Given the description of an element on the screen output the (x, y) to click on. 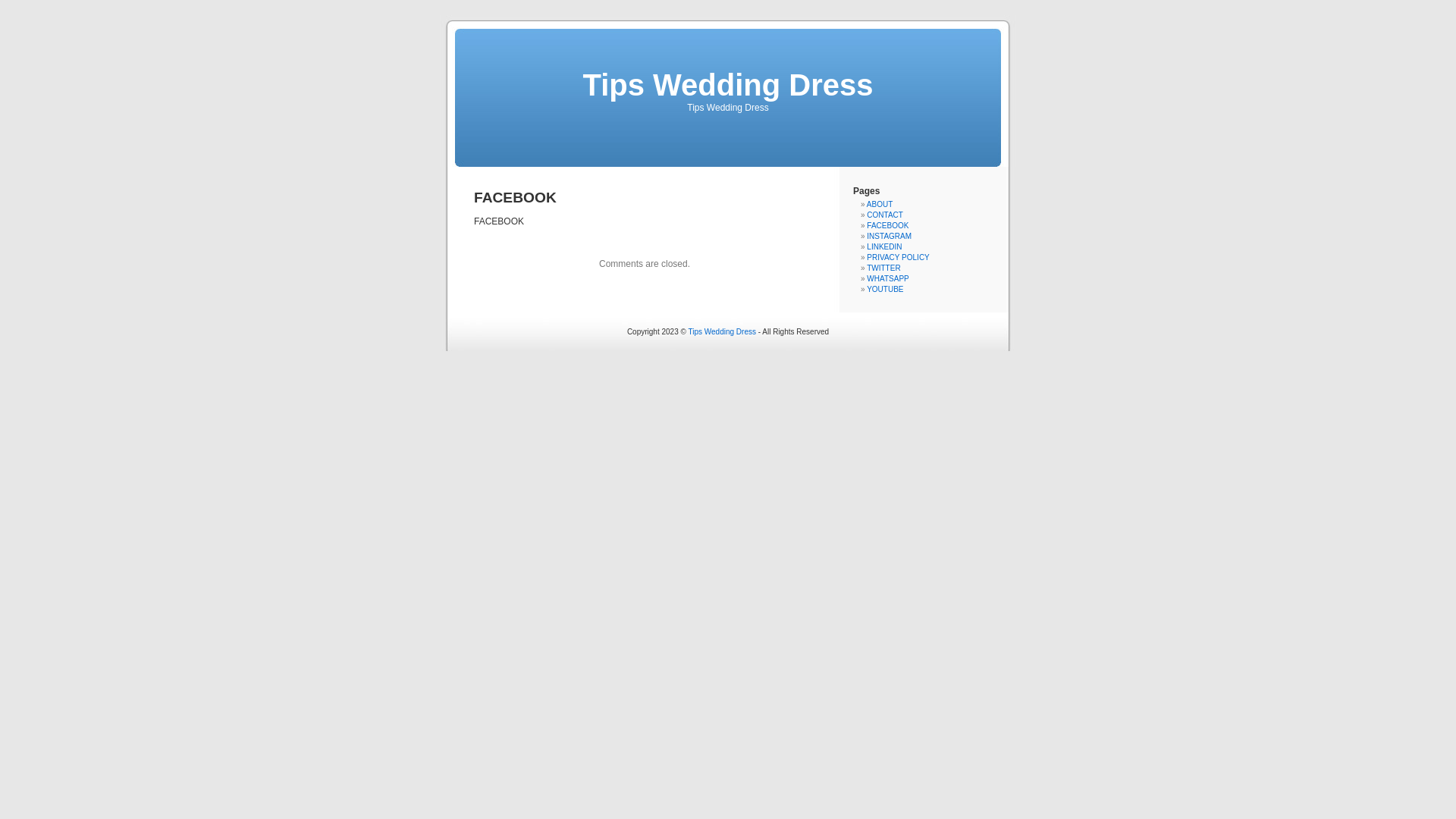
ABOUT Element type: text (879, 204)
FACEBOOK Element type: text (887, 225)
INSTAGRAM Element type: text (888, 236)
WHATSAPP Element type: text (887, 278)
CONTACT Element type: text (884, 214)
PRIVACY POLICY Element type: text (897, 257)
Tips Wedding Dress Element type: text (727, 84)
LINKEDIN Element type: text (883, 246)
Tips Wedding Dress Element type: text (721, 331)
TWITTER Element type: text (883, 267)
YOUTUBE Element type: text (884, 289)
